Given the description of an element on the screen output the (x, y) to click on. 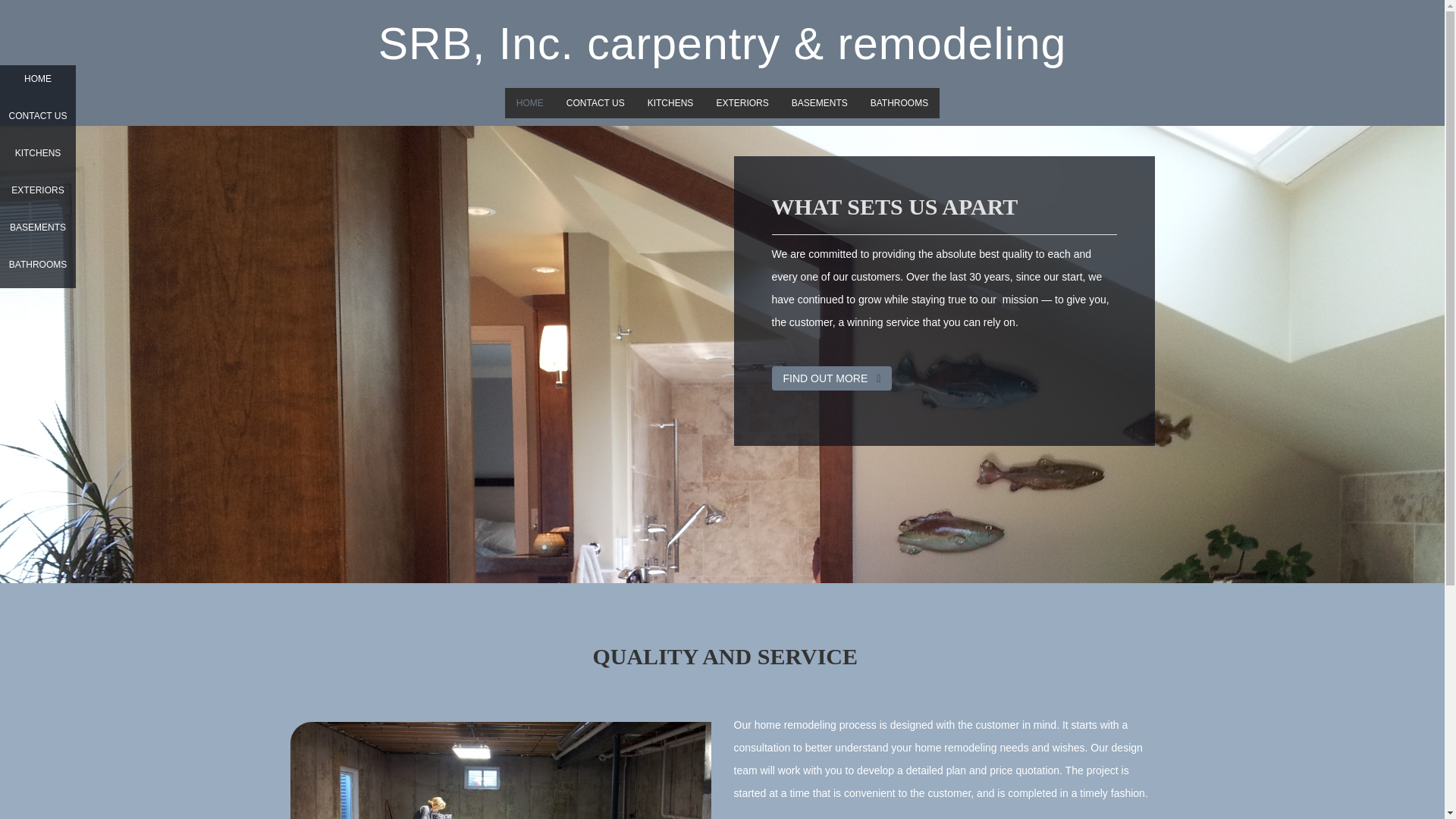
Bathrooms (899, 102)
EXTERIORS (37, 194)
CONTACT US (595, 102)
BATHROOMS (899, 102)
Kitchens (670, 102)
BATHROOMS (37, 269)
HOME (529, 102)
Basements (819, 102)
KITCHENS (37, 157)
HOME (37, 83)
BASEMENTS (819, 102)
BASEMENTS (37, 231)
FIND OUT MORE (831, 378)
KITCHENS (670, 102)
Home (529, 102)
